Given the description of an element on the screen output the (x, y) to click on. 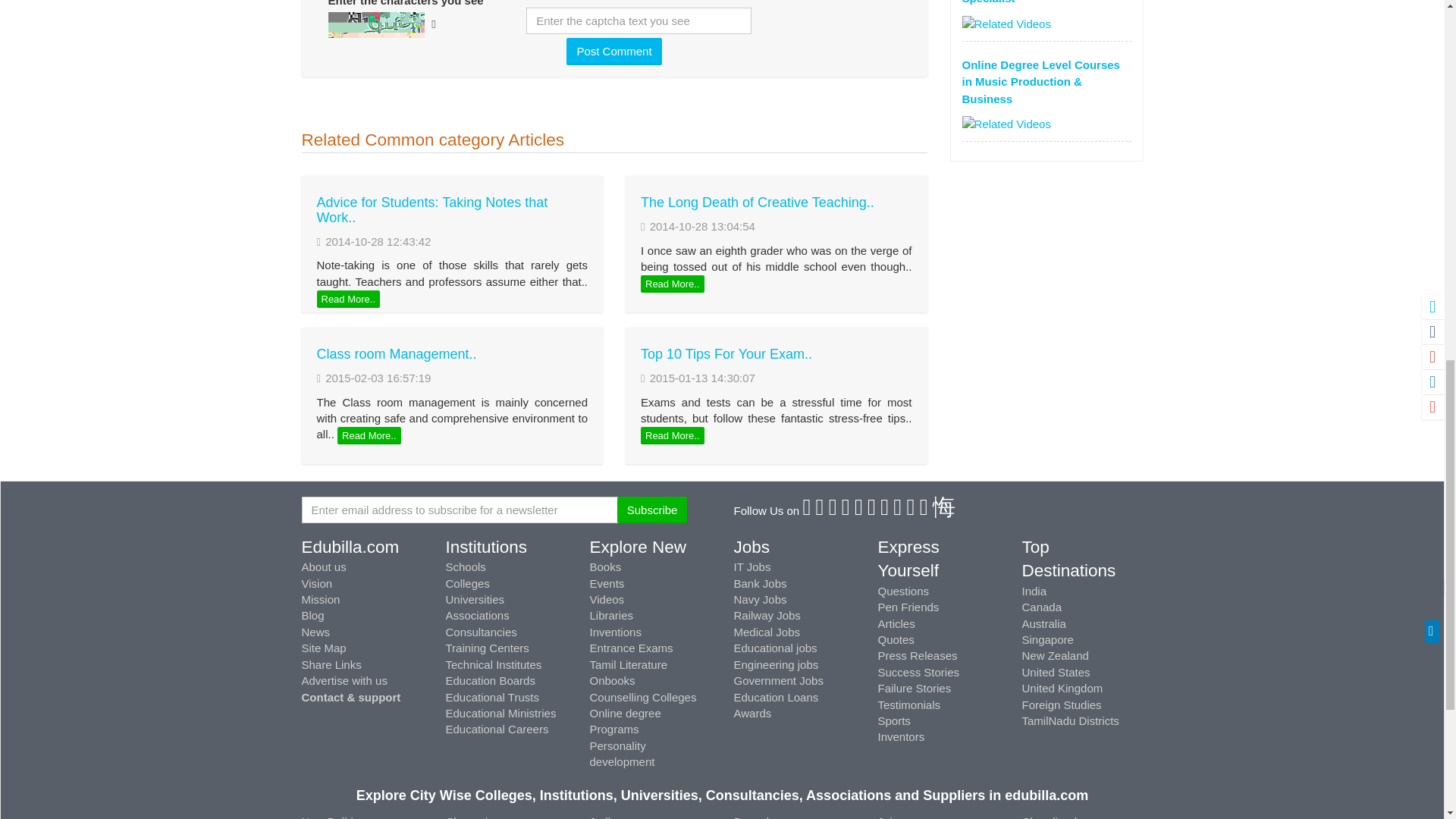
Subscribe (652, 509)
Read More.. (672, 284)
Class room Management.. (397, 353)
The Long Death of Creative Teaching.. (757, 201)
Read More.. (348, 299)
Top 10 Tips For Your Exam.. (726, 353)
Read More.. (369, 435)
Post Comment (613, 50)
Read More.. (672, 435)
Post Comment (613, 50)
Class room Management (397, 353)
Subscribe (652, 509)
Advice for Students: Taking Notes that Work.. (432, 209)
The Long Death of Creative Teaching (757, 201)
